Given the description of an element on the screen output the (x, y) to click on. 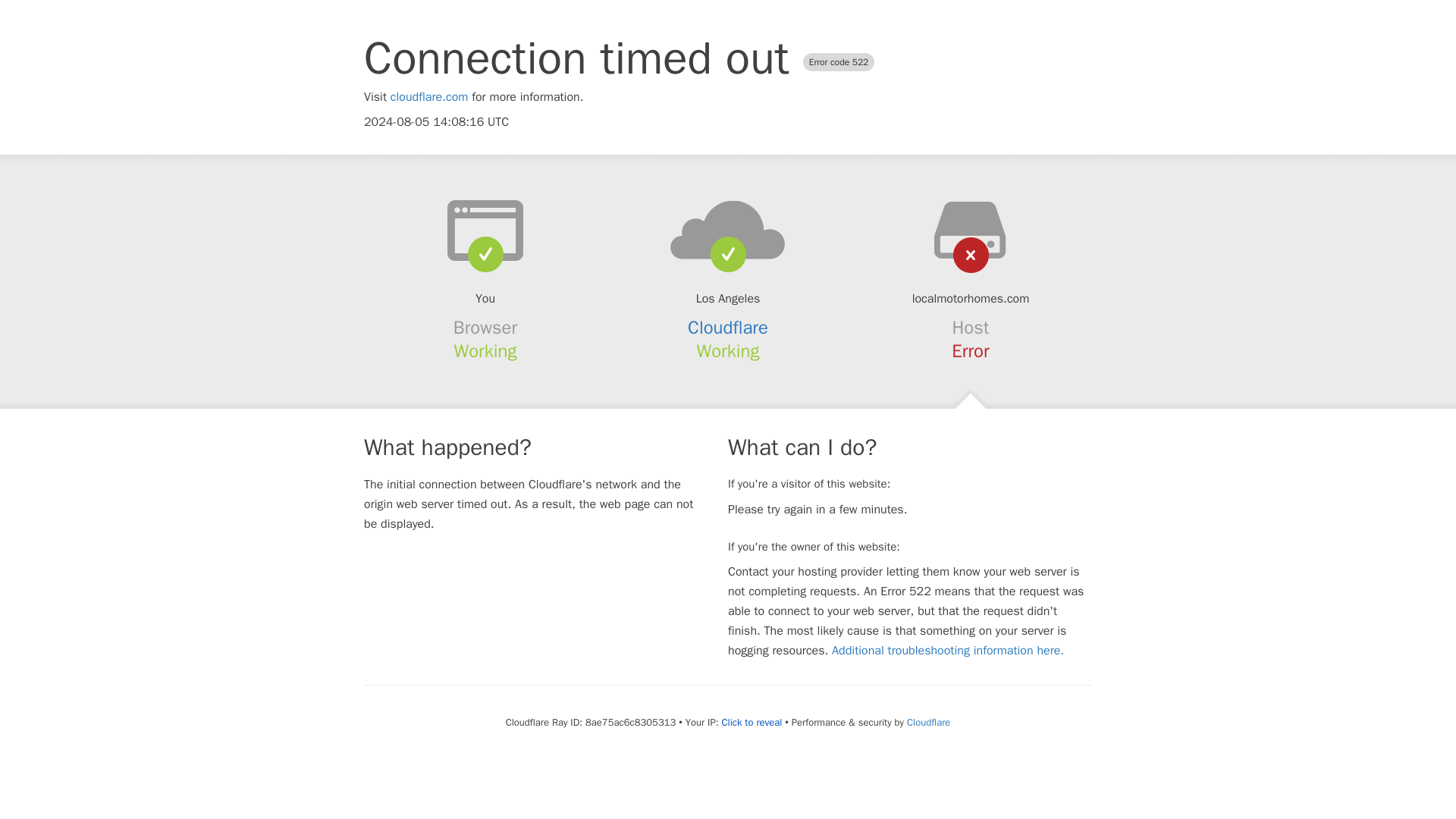
Cloudflare (928, 721)
Click to reveal (750, 722)
Additional troubleshooting information here. (947, 650)
Cloudflare (727, 327)
cloudflare.com (429, 96)
